Given the description of an element on the screen output the (x, y) to click on. 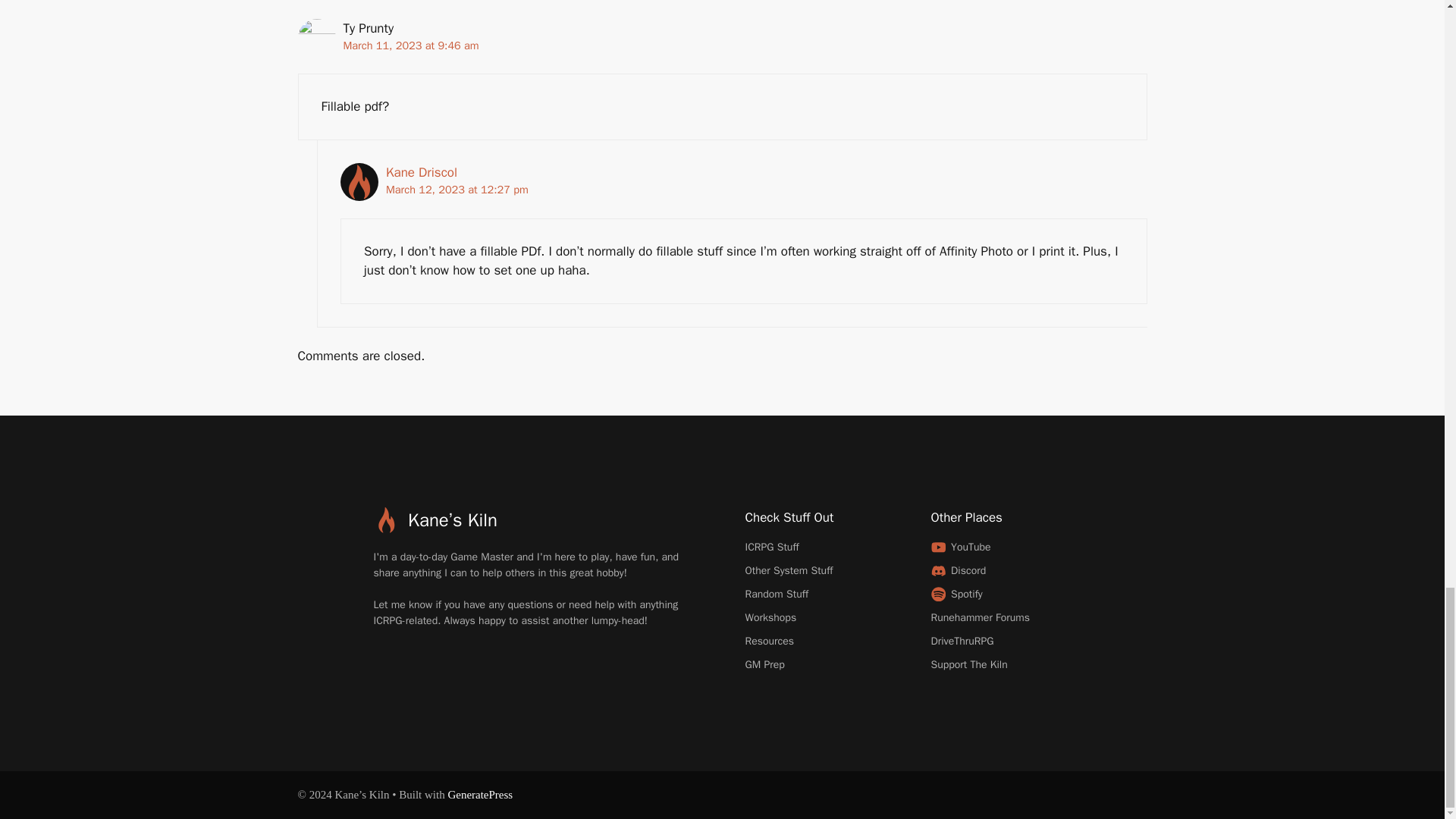
March 12, 2023 at 12:27 pm (456, 189)
ICRPG Stuff (770, 546)
Other System Stuff (788, 570)
Workshops (770, 617)
Kane Driscol (421, 172)
Random Stuff (776, 594)
March 11, 2023 at 9:46 am (410, 45)
